Given the description of an element on the screen output the (x, y) to click on. 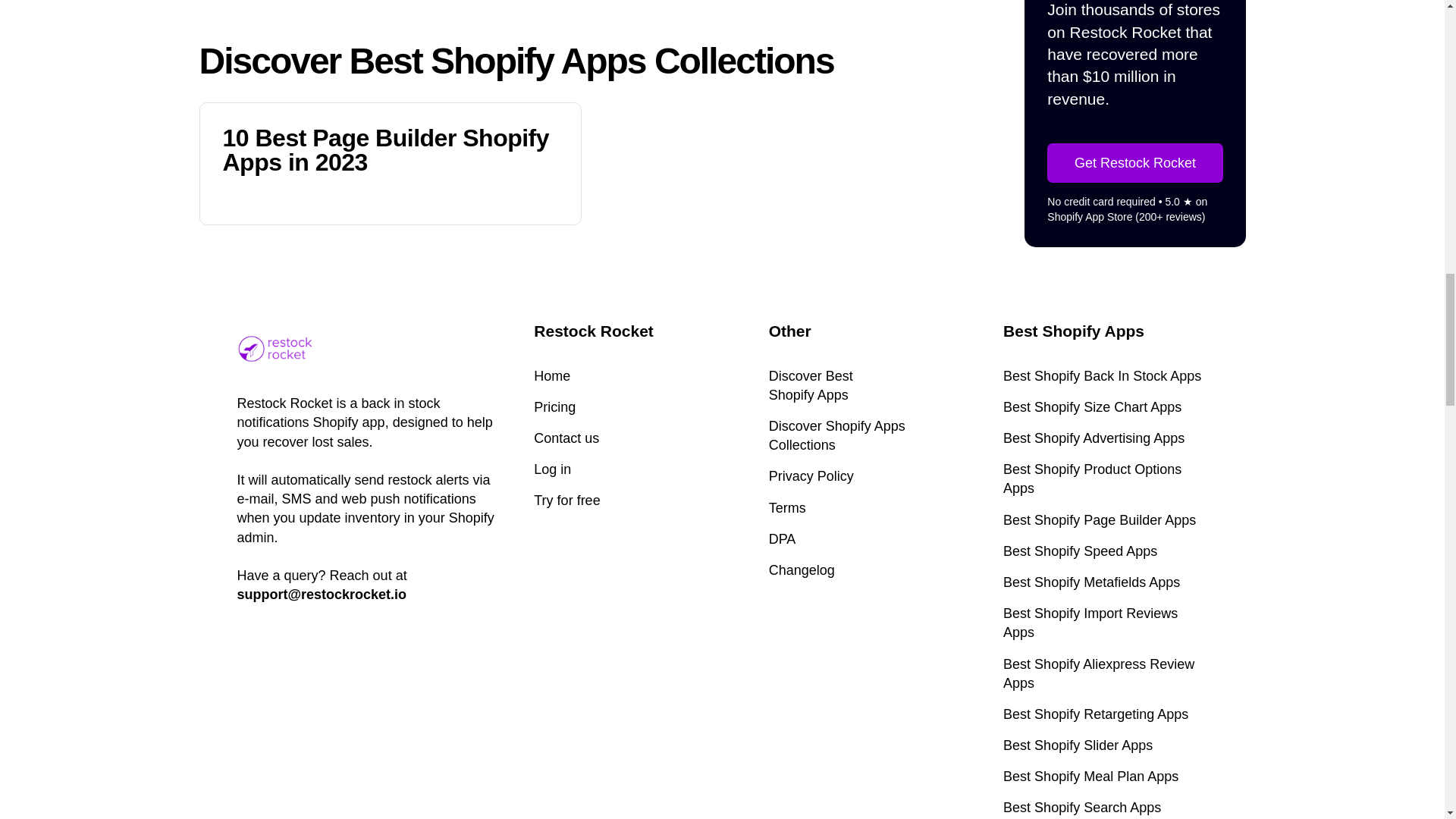
Best Shopify Size Chart Apps (1105, 407)
Contact us (566, 438)
Home (552, 375)
Best Shopify Advertising Apps (1105, 438)
Discover Shopify Apps Collections (870, 435)
Best Shopify Speed Apps (1105, 551)
Terms (810, 385)
Changelog (787, 507)
10 Best Page Builder Shopify Apps in 2023 (801, 570)
